Given the description of an element on the screen output the (x, y) to click on. 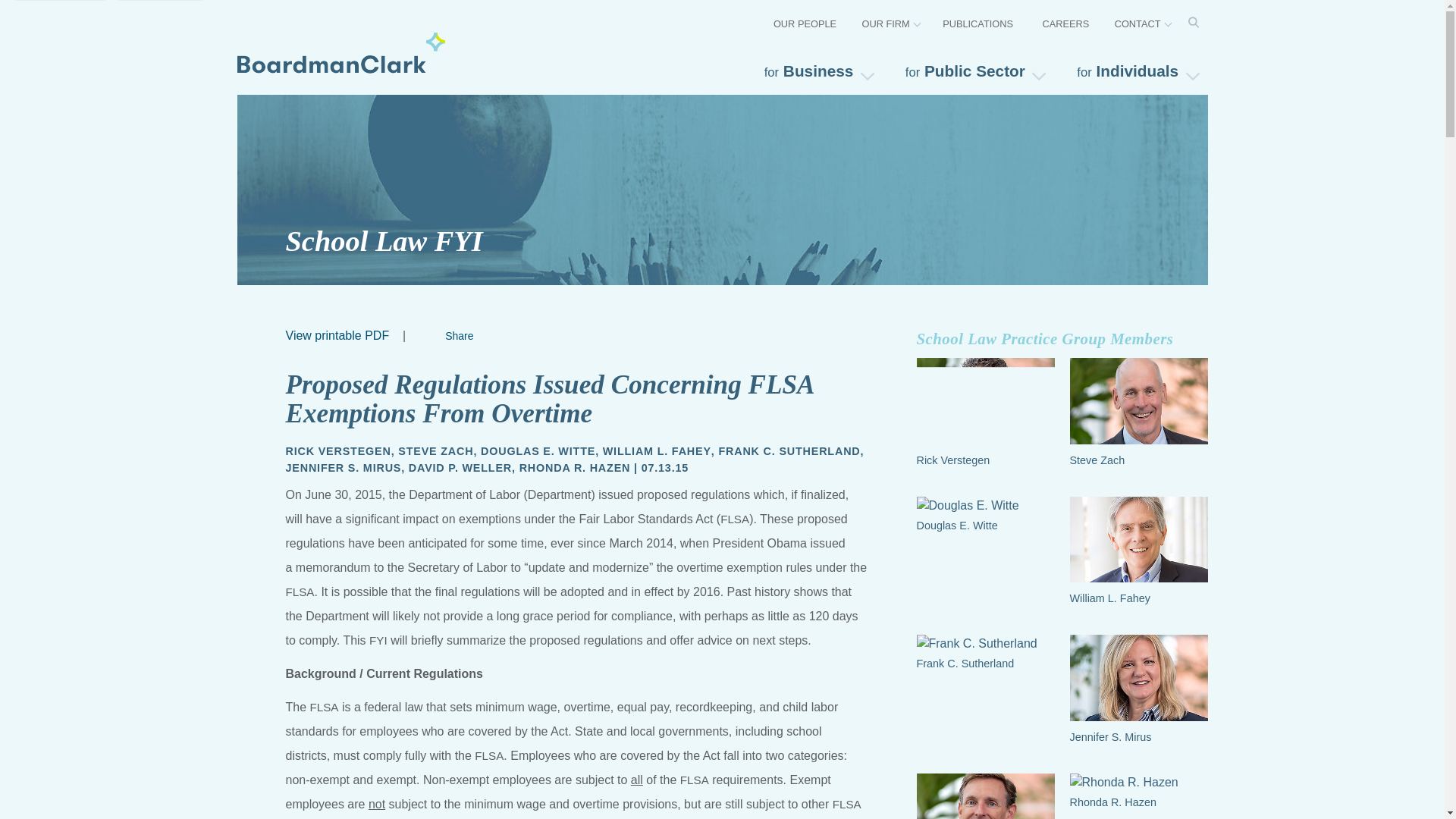
for Public Sector (973, 71)
author.title (537, 451)
for Business (817, 71)
author.title (343, 467)
Boardman Clark Law Firm (340, 52)
author.title (337, 451)
author.title (435, 451)
for Individuals (1135, 71)
author.title (574, 467)
author.title (460, 467)
